Given the description of an element on the screen output the (x, y) to click on. 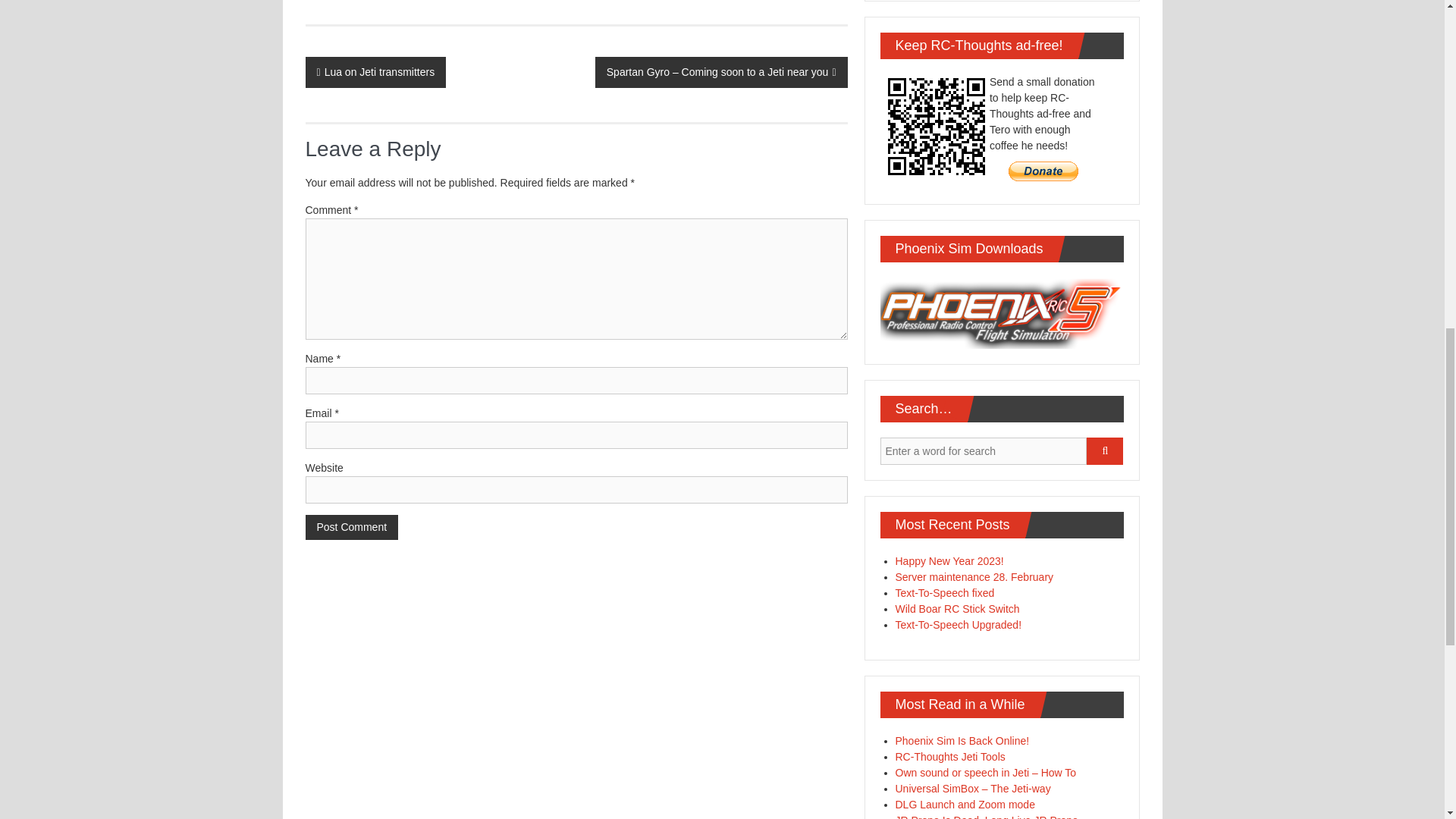
Phoenix Sim Downloads (1000, 312)
Post Comment (350, 527)
